Given the description of an element on the screen output the (x, y) to click on. 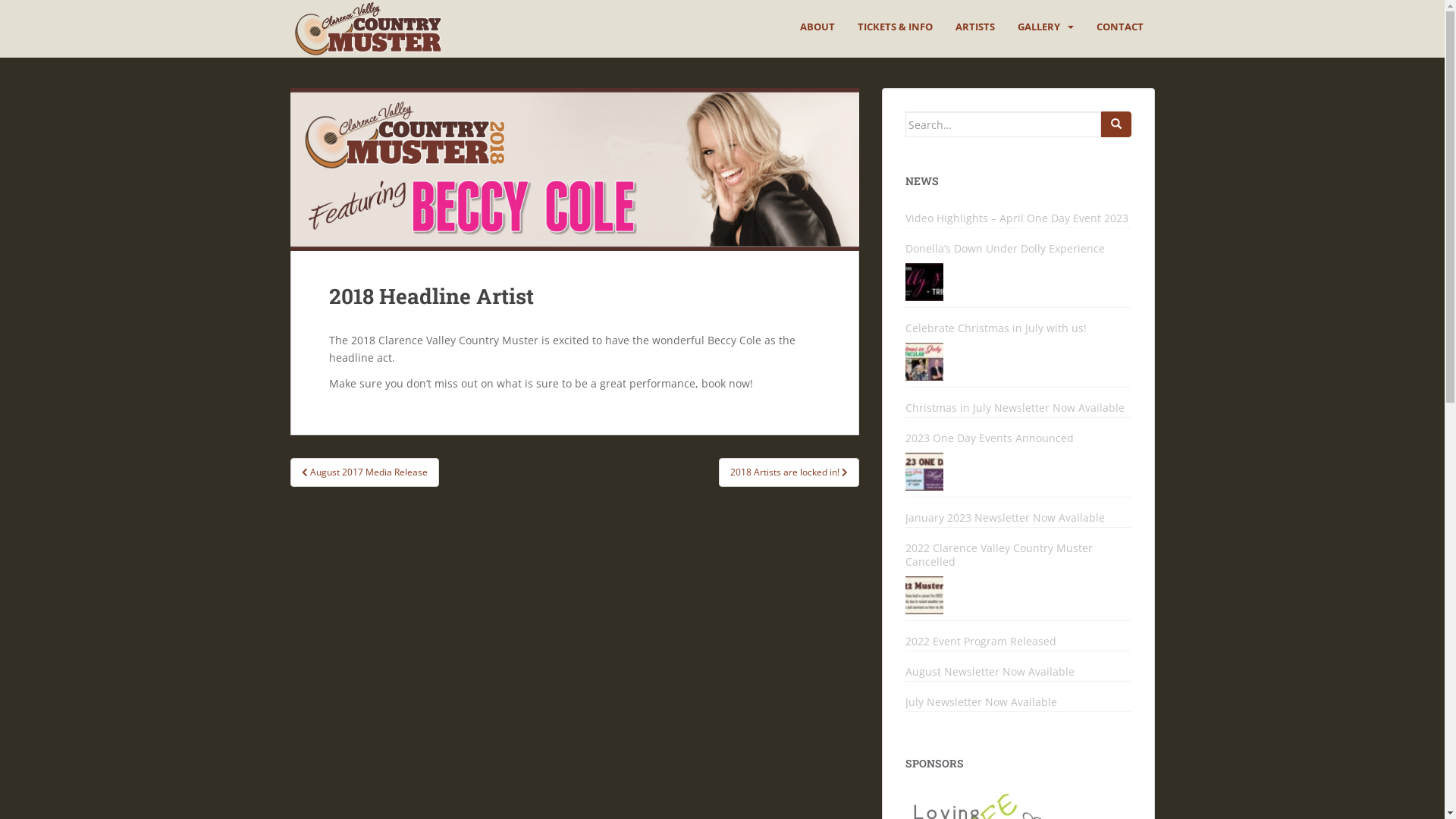
Search for: Element type: hover (1003, 124)
Celebrate Christmas in July with us! Element type: text (1018, 328)
2018 Artists are locked in! Element type: text (788, 472)
2022 Event Program Released Element type: text (1018, 641)
2022 Clarence Valley Country Muster Cancelled Element type: text (1018, 554)
ARTISTS Element type: text (974, 26)
TICKETS & INFO Element type: text (893, 26)
January 2023 Newsletter Now Available Element type: text (1018, 517)
August Newsletter Now Available Element type: text (1018, 671)
GALLERY Element type: text (1038, 26)
CONTACT Element type: text (1119, 26)
ABOUT Element type: text (816, 26)
2023 One Day Events Announced Element type: hover (924, 471)
Search Element type: text (1116, 124)
Christmas in July Newsletter Now Available Element type: text (1018, 407)
2023 One Day Events Announced Element type: text (1018, 438)
August 2017 Media Release Element type: text (363, 472)
2022 Clarence Valley Country Muster Cancelled Element type: hover (924, 595)
Celebrate Christmas in July with us! Element type: hover (924, 361)
July Newsletter Now Available Element type: text (1018, 702)
